Given the description of an element on the screen output the (x, y) to click on. 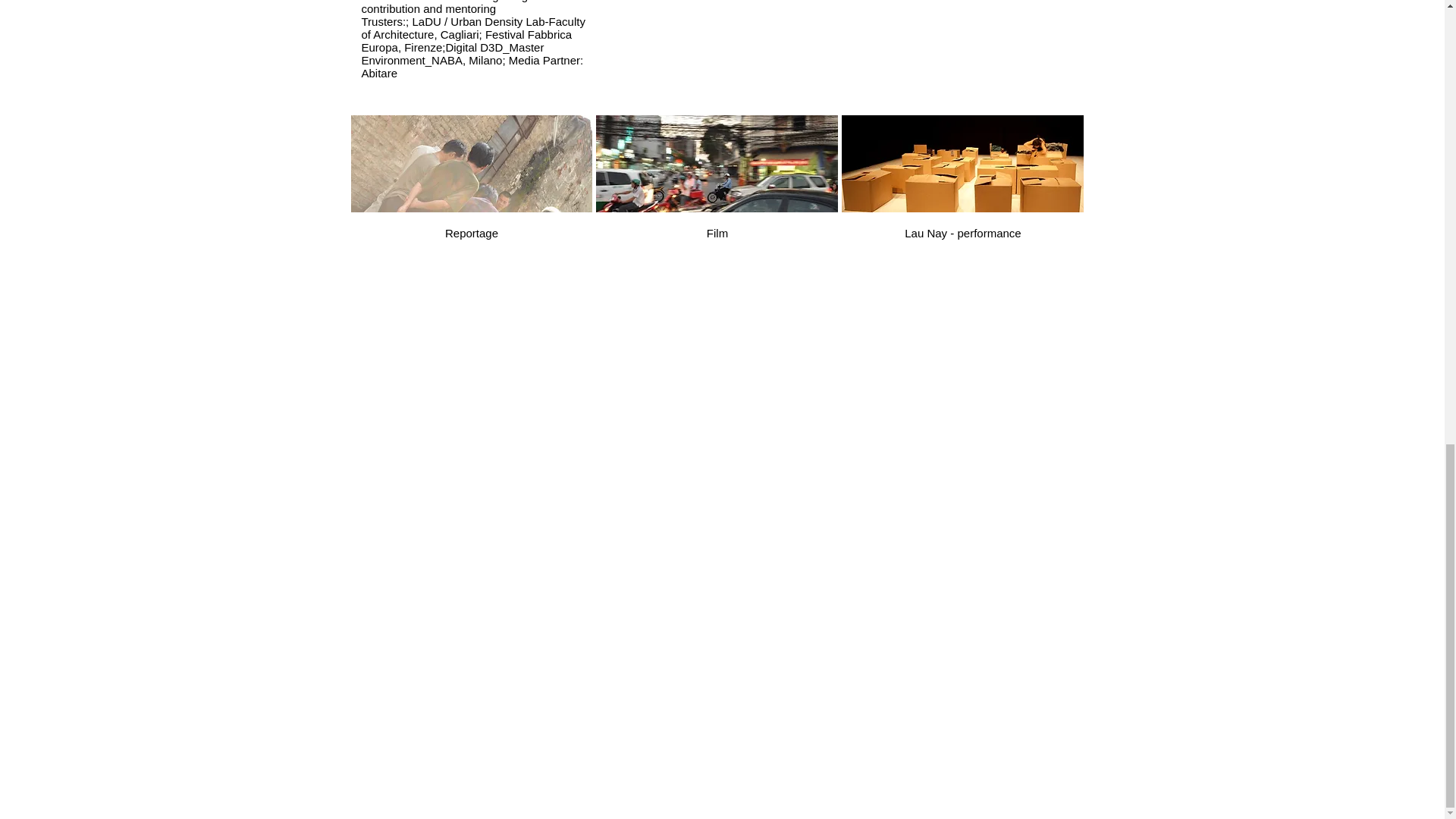
Abitare (379, 72)
Festival Fabbrica Europa (466, 40)
Reportage (471, 185)
Lau Nay - performance (962, 185)
Film (716, 185)
